Given the description of an element on the screen output the (x, y) to click on. 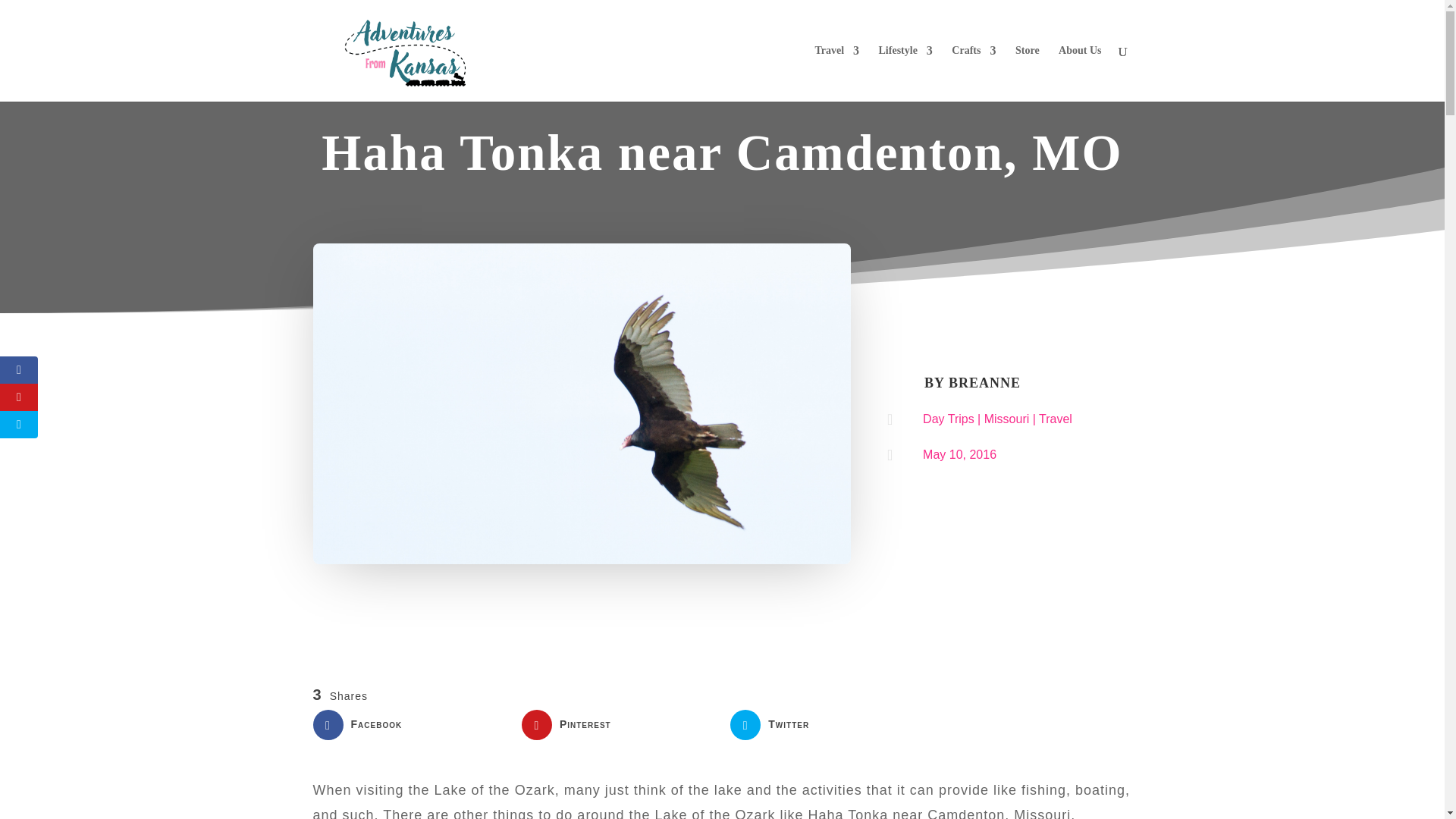
About Us (1079, 73)
Lifestyle (906, 73)
Store (1026, 73)
Travel (836, 73)
Day Trips (948, 418)
Missouri (1006, 418)
Crafts (973, 73)
Travel (1055, 418)
Facebook (409, 725)
Pinterest (617, 725)
Twitter (826, 725)
BREANNE (984, 382)
